Given the description of an element on the screen output the (x, y) to click on. 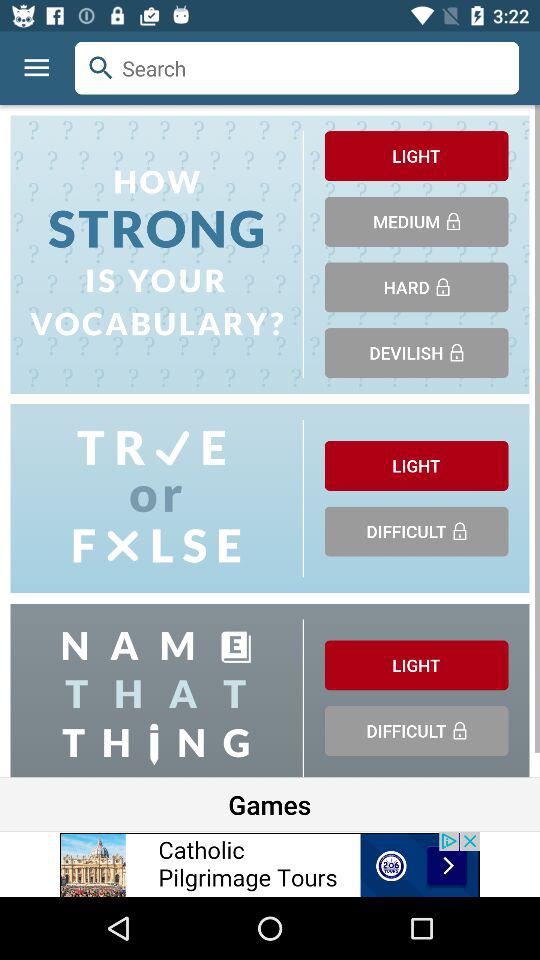
go to advertainment (270, 864)
